Given the description of an element on the screen output the (x, y) to click on. 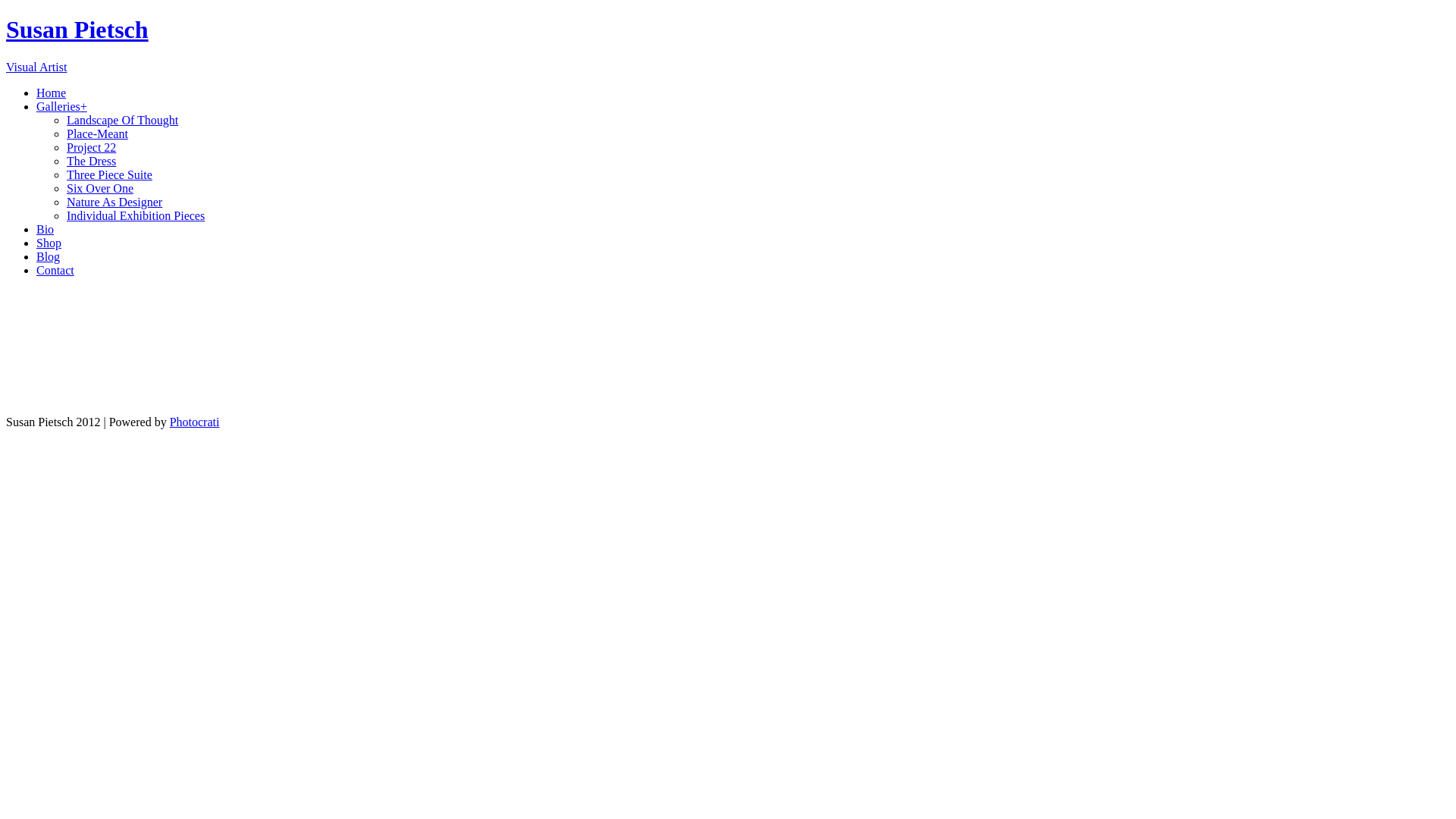
Three Piece Suite Element type: text (109, 174)
Place-Meant Element type: text (97, 133)
Bio Element type: text (44, 228)
Home Element type: text (50, 92)
Individual Exhibition Pieces Element type: text (135, 215)
Landscape Of Thought Element type: text (122, 119)
Project 22 Element type: text (91, 147)
Shop Element type: text (48, 242)
Blog Element type: text (47, 256)
Galleries+ Element type: text (61, 106)
Susan Pietsch
Visual Artist Element type: text (727, 44)
Contact Element type: text (55, 269)
Six Over One Element type: text (99, 188)
Photocrati Element type: text (194, 421)
The Dress Element type: text (91, 160)
Nature As Designer Element type: text (114, 201)
